Given the description of an element on the screen output the (x, y) to click on. 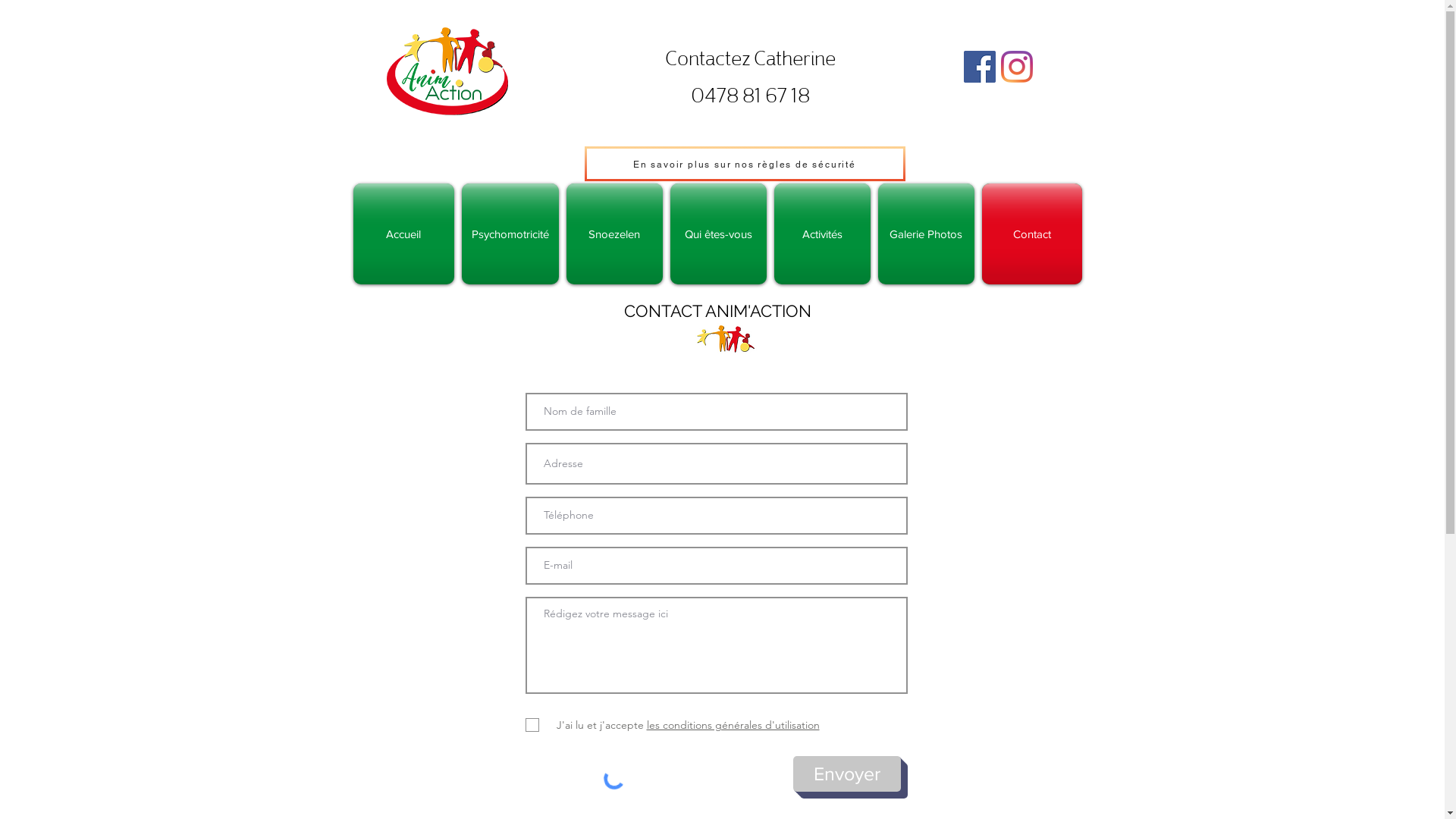
Galerie Photos Element type: text (925, 233)
Accueil Element type: text (405, 233)
Envoyer Element type: text (846, 773)
Snoezelen Element type: text (614, 233)
Contact Element type: text (1030, 233)
